Given the description of an element on the screen output the (x, y) to click on. 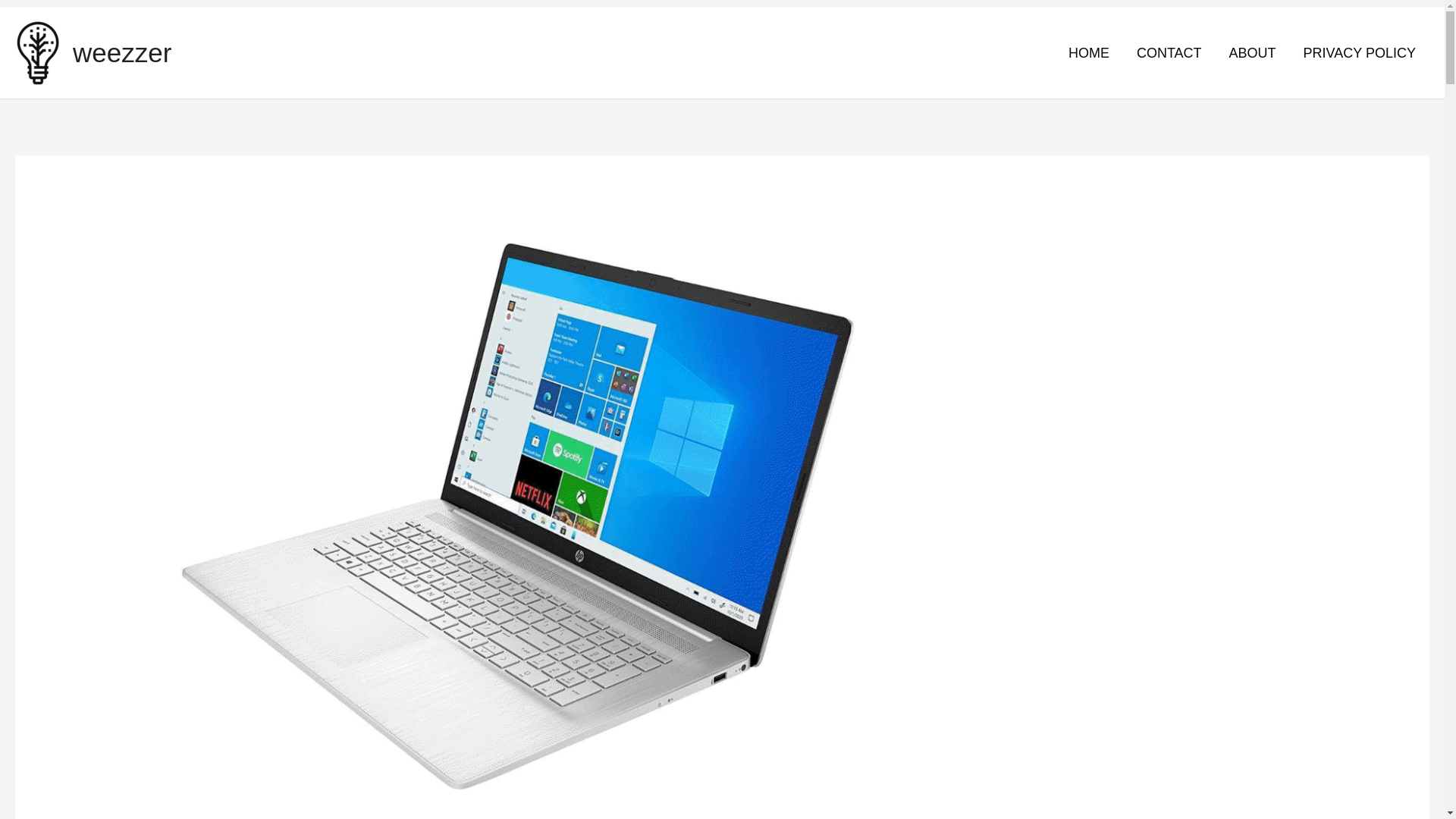
PRIVACY POLICY (1359, 52)
ABOUT (1252, 52)
HOME (1088, 52)
CONTACT (1168, 52)
weezzer (121, 52)
